Given the description of an element on the screen output the (x, y) to click on. 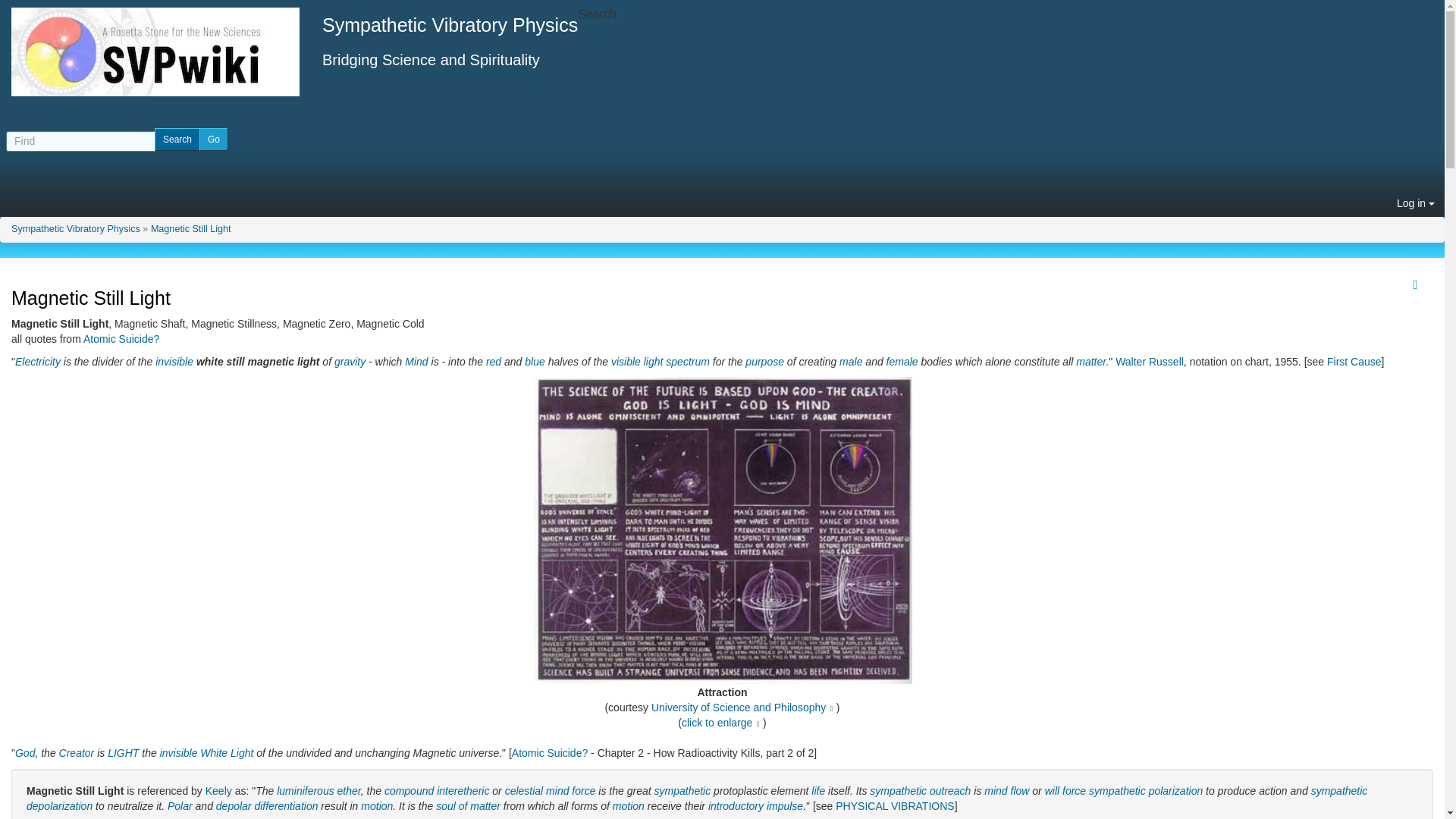
female (902, 360)
White Light (226, 752)
First Cause (1353, 360)
click to enlarge (716, 722)
LIGHT (122, 752)
male (850, 360)
Magnetic Still Light (191, 228)
Blue (534, 360)
Search (177, 138)
male (850, 360)
